Given the description of an element on the screen output the (x, y) to click on. 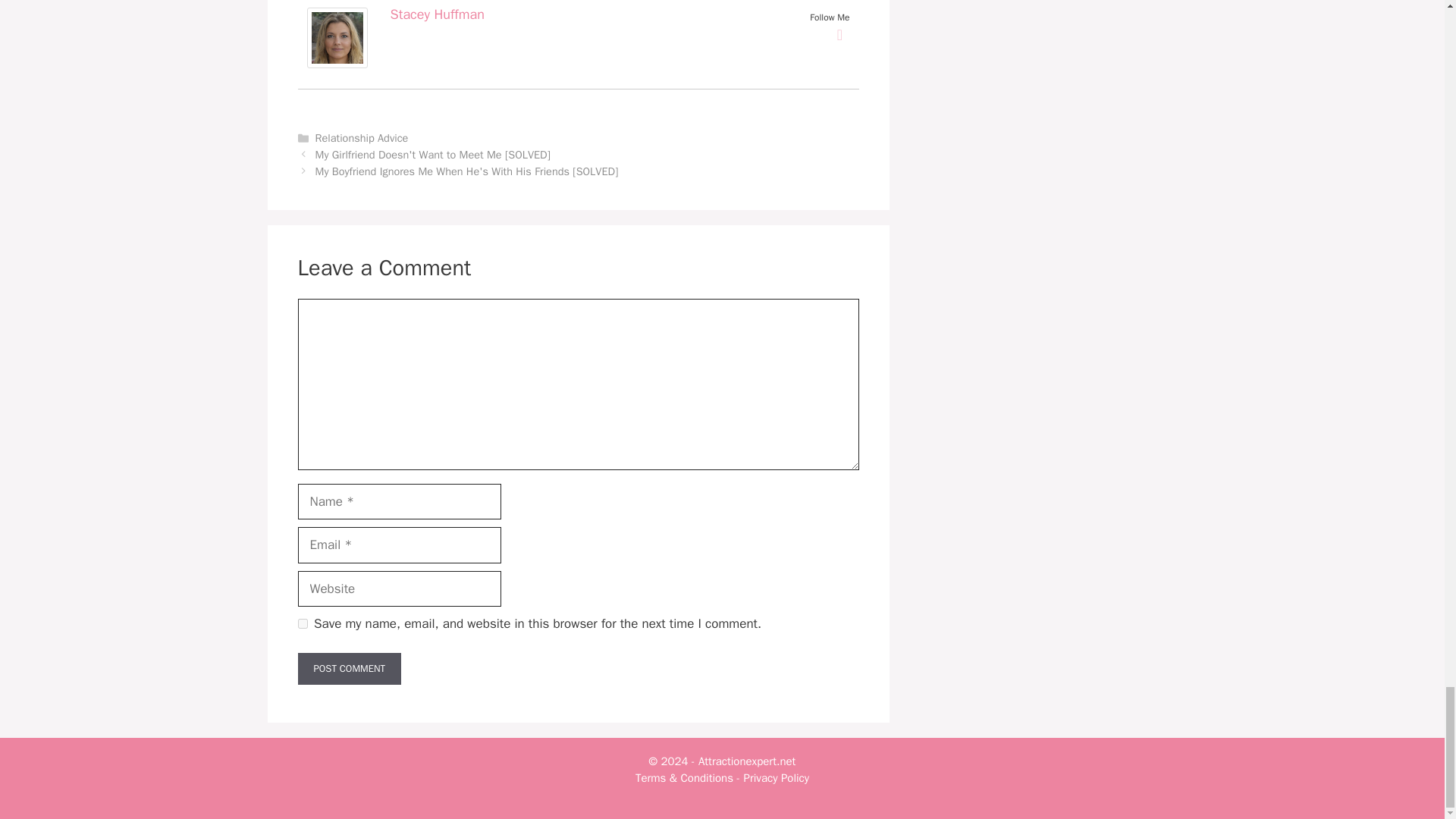
yes (302, 623)
Post Comment (349, 668)
Relationship Advice (362, 137)
Twitter (839, 34)
Post Comment (349, 668)
Stacey Huffman (335, 64)
Privacy Policy (776, 777)
Stacey Huffman (436, 13)
